Given the description of an element on the screen output the (x, y) to click on. 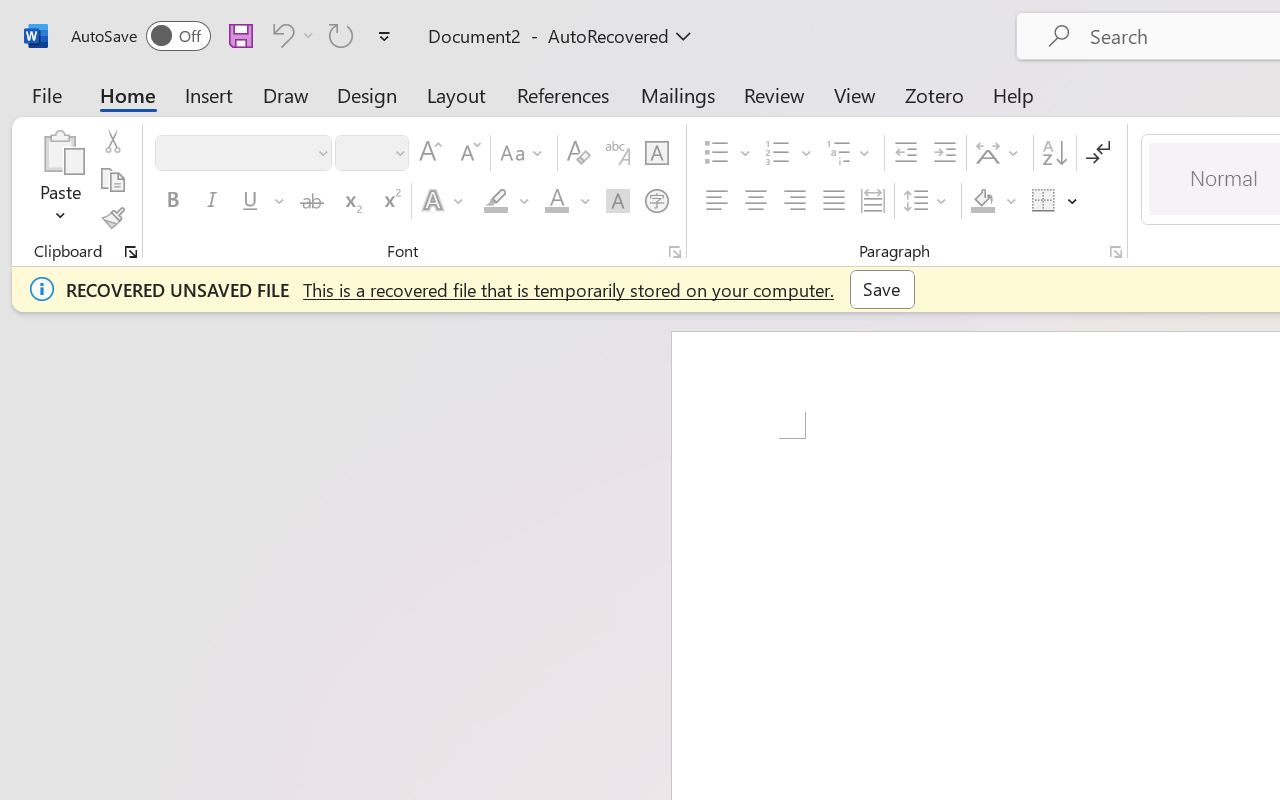
Justify (834, 201)
Italic (212, 201)
Shading (993, 201)
Show/Hide Editing Marks (1098, 153)
Clear Formatting (578, 153)
Increase Indent (944, 153)
Cut (112, 141)
Change Case (524, 153)
Text Highlight Color Yellow (495, 201)
Paragraph... (1115, 252)
